Given the description of an element on the screen output the (x, y) to click on. 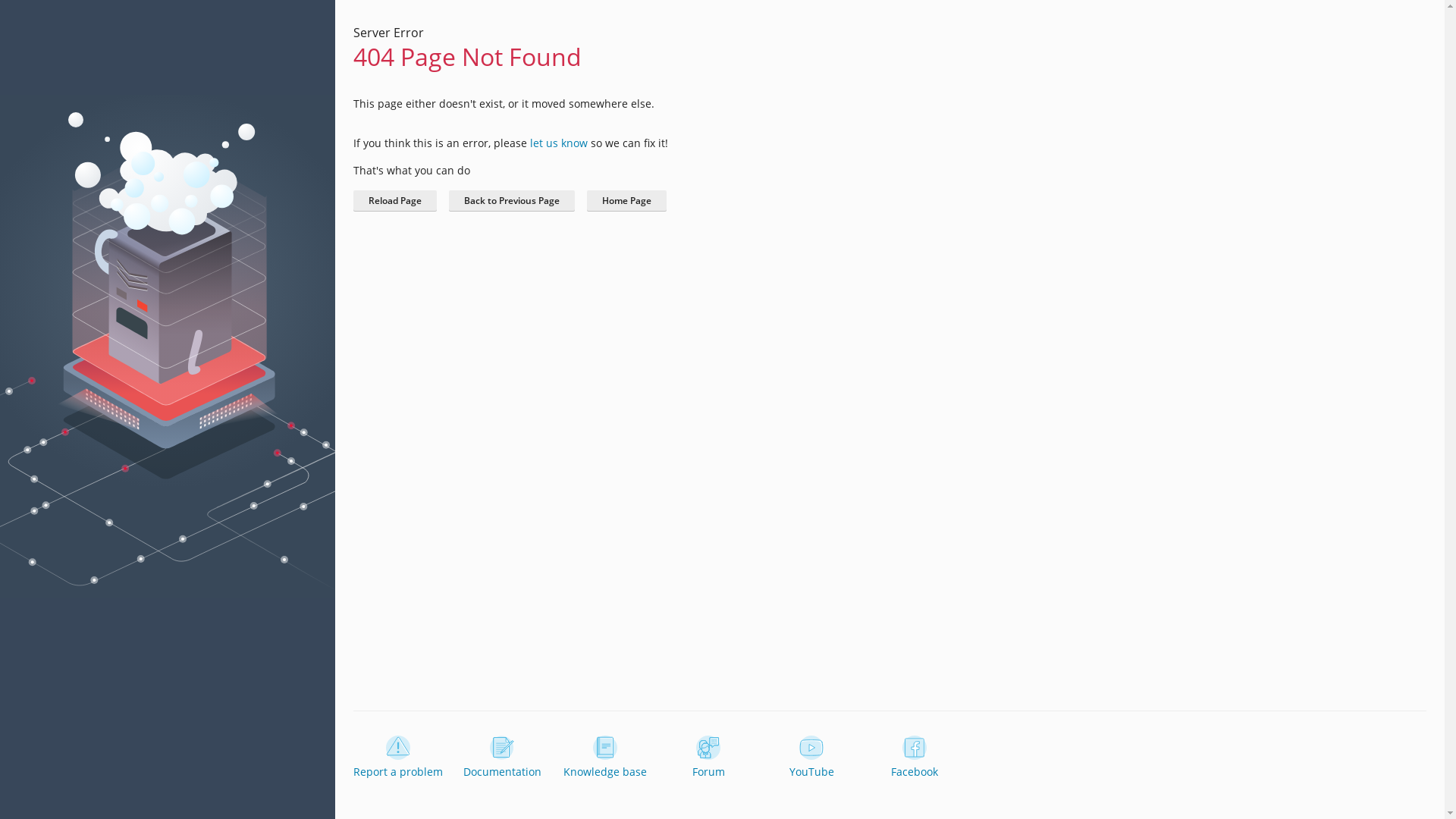
Home Page Element type: text (626, 200)
Knowledge base Element type: text (605, 757)
Back to Previous Page Element type: text (511, 200)
let us know Element type: text (558, 142)
Documentation Element type: text (502, 757)
Reload Page Element type: text (394, 200)
YouTube Element type: text (811, 757)
Facebook Element type: text (914, 757)
Report a problem Element type: text (397, 757)
Forum Element type: text (708, 757)
